Given the description of an element on the screen output the (x, y) to click on. 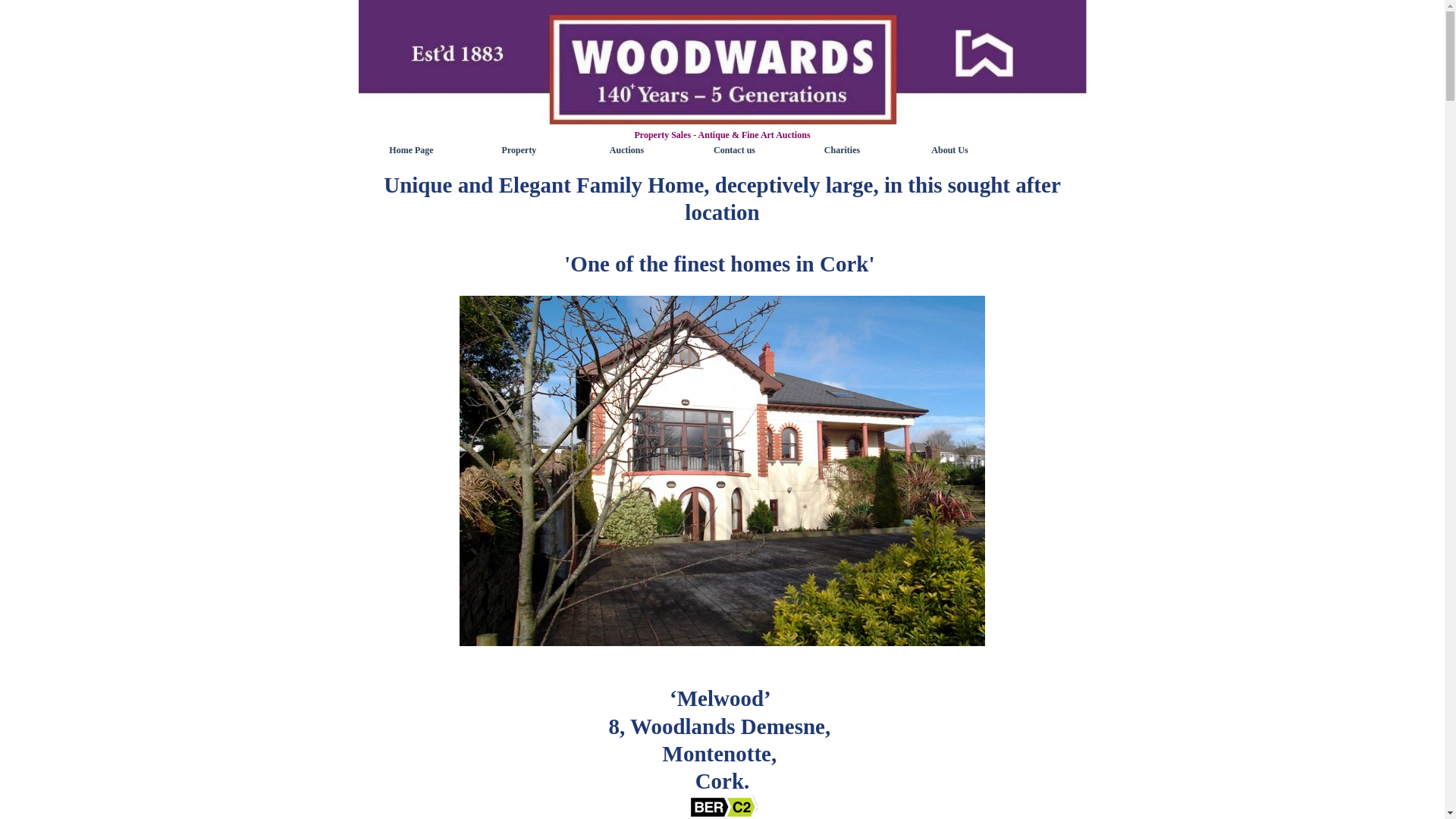
Home Page (411, 149)
Charities (842, 149)
About Us (949, 149)
